Given the description of an element on the screen output the (x, y) to click on. 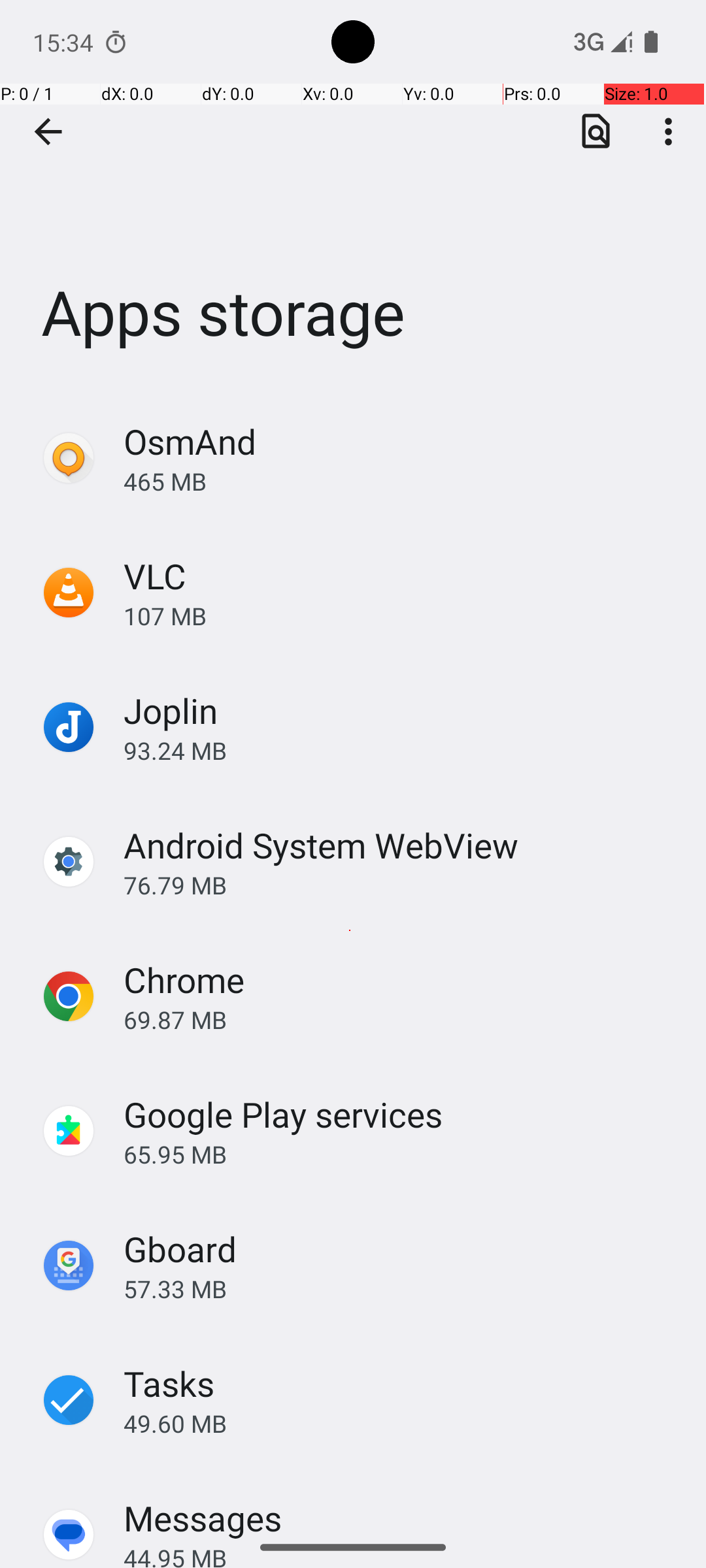
Apps storage Element type: android.widget.FrameLayout (353, 195)
465 MB Element type: android.widget.TextView (400, 480)
107 MB Element type: android.widget.TextView (400, 615)
93.24 MB Element type: android.widget.TextView (400, 750)
76.79 MB Element type: android.widget.TextView (400, 884)
69.87 MB Element type: android.widget.TextView (400, 1019)
65.95 MB Element type: android.widget.TextView (400, 1153)
Gboard Element type: android.widget.TextView (179, 1248)
57.33 MB Element type: android.widget.TextView (400, 1288)
49.60 MB Element type: android.widget.TextView (400, 1422)
